Given the description of an element on the screen output the (x, y) to click on. 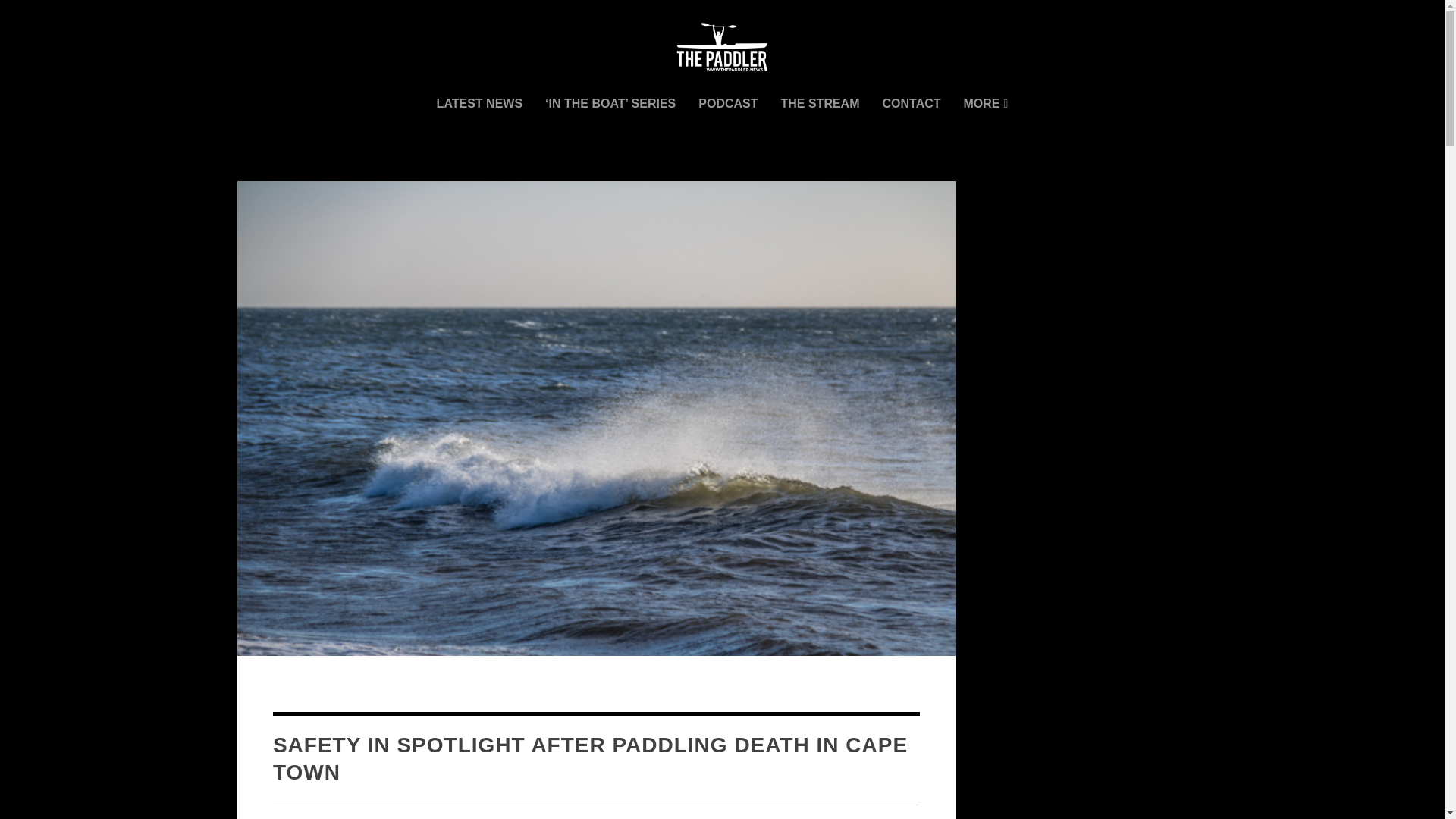
CONTACT (911, 123)
PODCAST (727, 123)
THE STREAM (820, 123)
LATEST NEWS (479, 123)
